Given the description of an element on the screen output the (x, y) to click on. 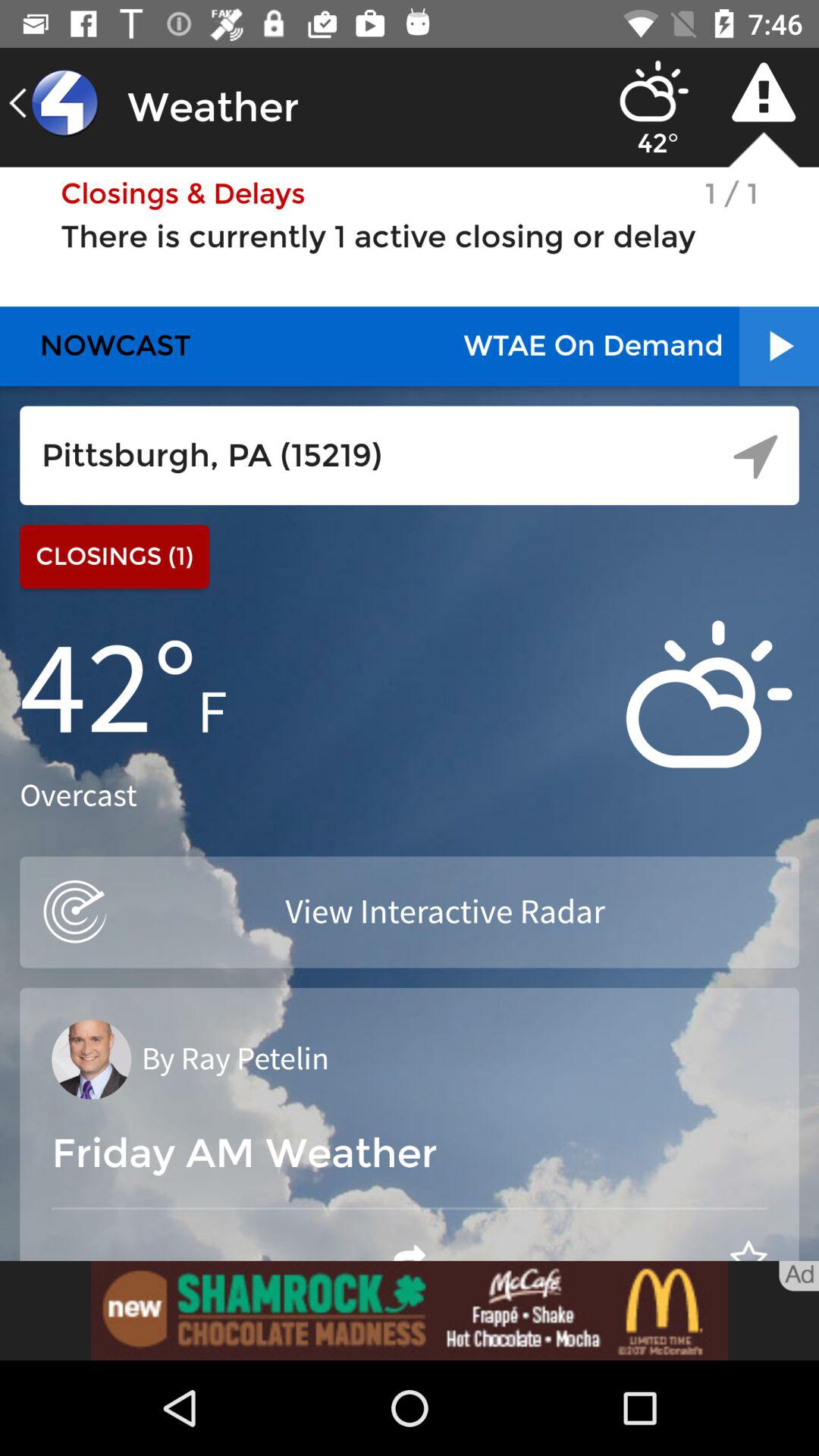
bit news (409, 1310)
